Given the description of an element on the screen output the (x, y) to click on. 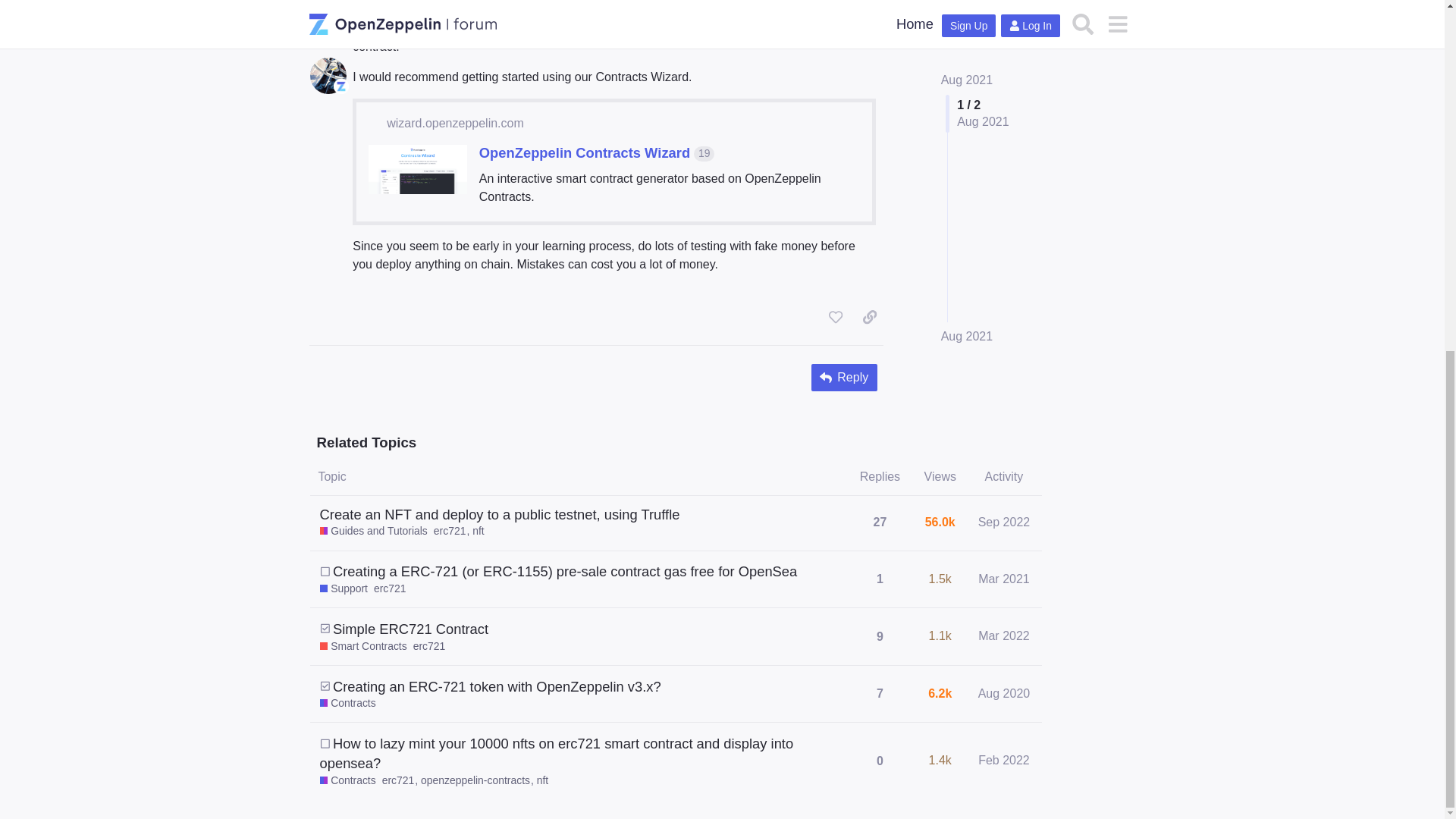
OpenZeppelinTeam (341, 3)
Support (344, 589)
erc721 (390, 589)
Reply (843, 377)
Create an NFT and deploy to a public testnet, using Truffle (499, 514)
erc721 (452, 531)
Guides and Tutorials (374, 531)
Sep 2022 (1003, 521)
wizard.openzeppelin.com (455, 123)
OpenZeppelin Contracts Wizard 19 (596, 152)
